Given the description of an element on the screen output the (x, y) to click on. 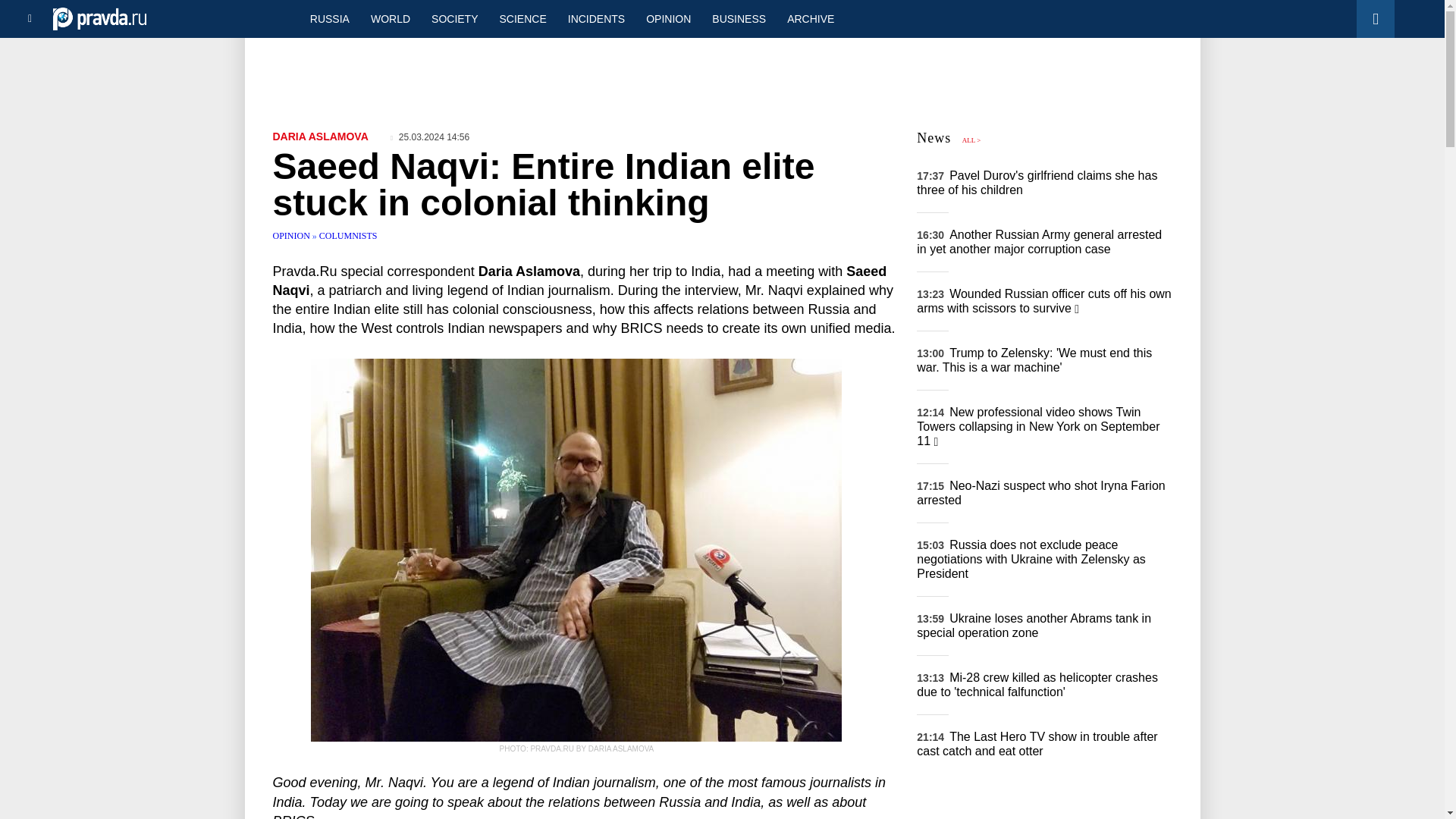
OPINION (667, 18)
Published (430, 136)
ARCHIVE (810, 18)
SOCIETY (453, 18)
DARIA ASLAMOVA (320, 136)
WORLD (389, 18)
SCIENCE (523, 18)
BUSINESS (738, 18)
INCIDENTS (595, 18)
COLUMNISTS (347, 235)
